Given the description of an element on the screen output the (x, y) to click on. 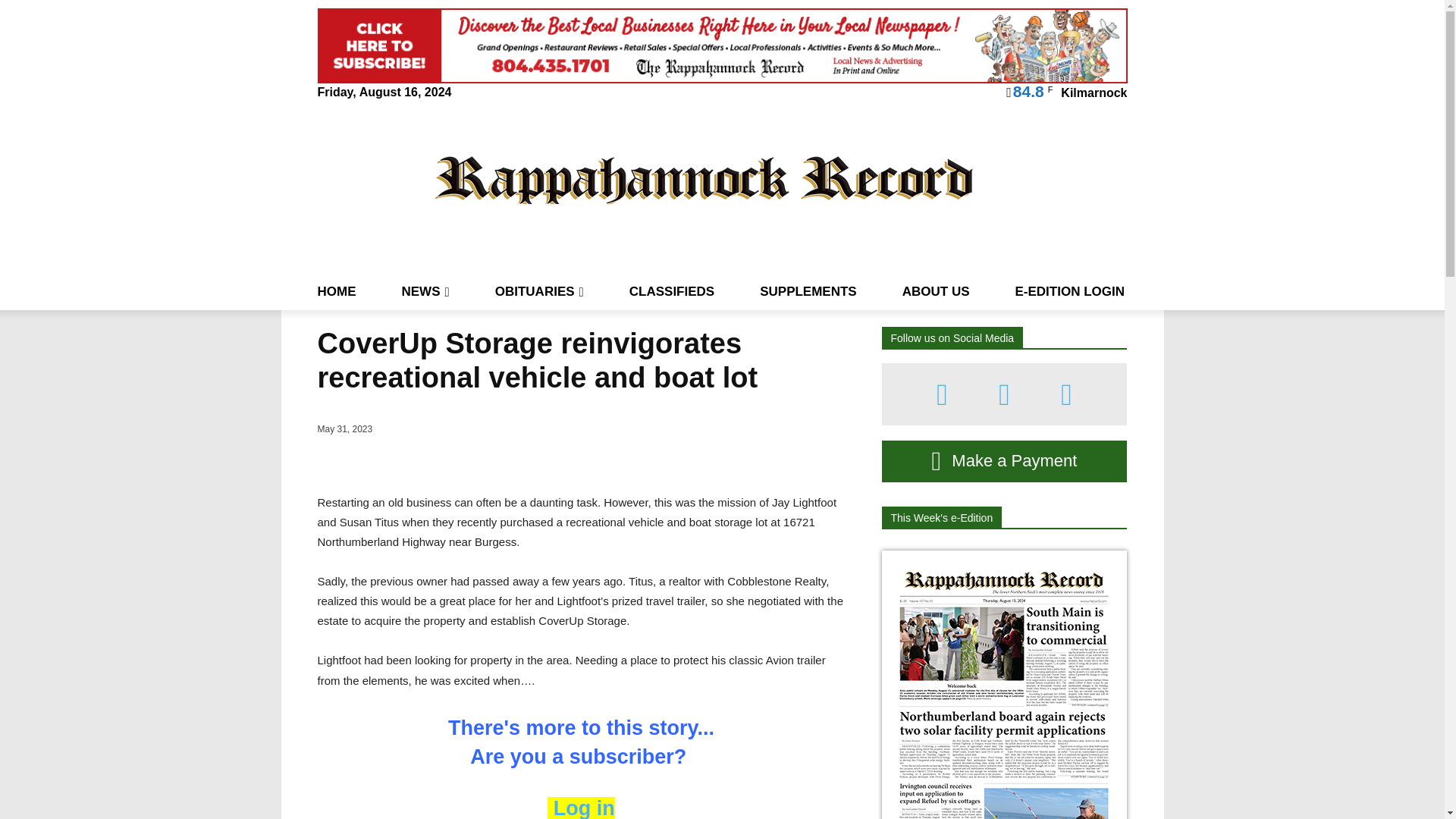
Make a Payment (1003, 461)
CLASSIFIEDS (671, 291)
Facebook (941, 393)
ABOUT US (935, 291)
Rappahannock Record (703, 179)
Twitter (1066, 393)
OBITUARIES (539, 291)
 Log in (580, 807)
E-EDITION LOGIN (1069, 291)
Rappahannock Record (704, 179)
